Given the description of an element on the screen output the (x, y) to click on. 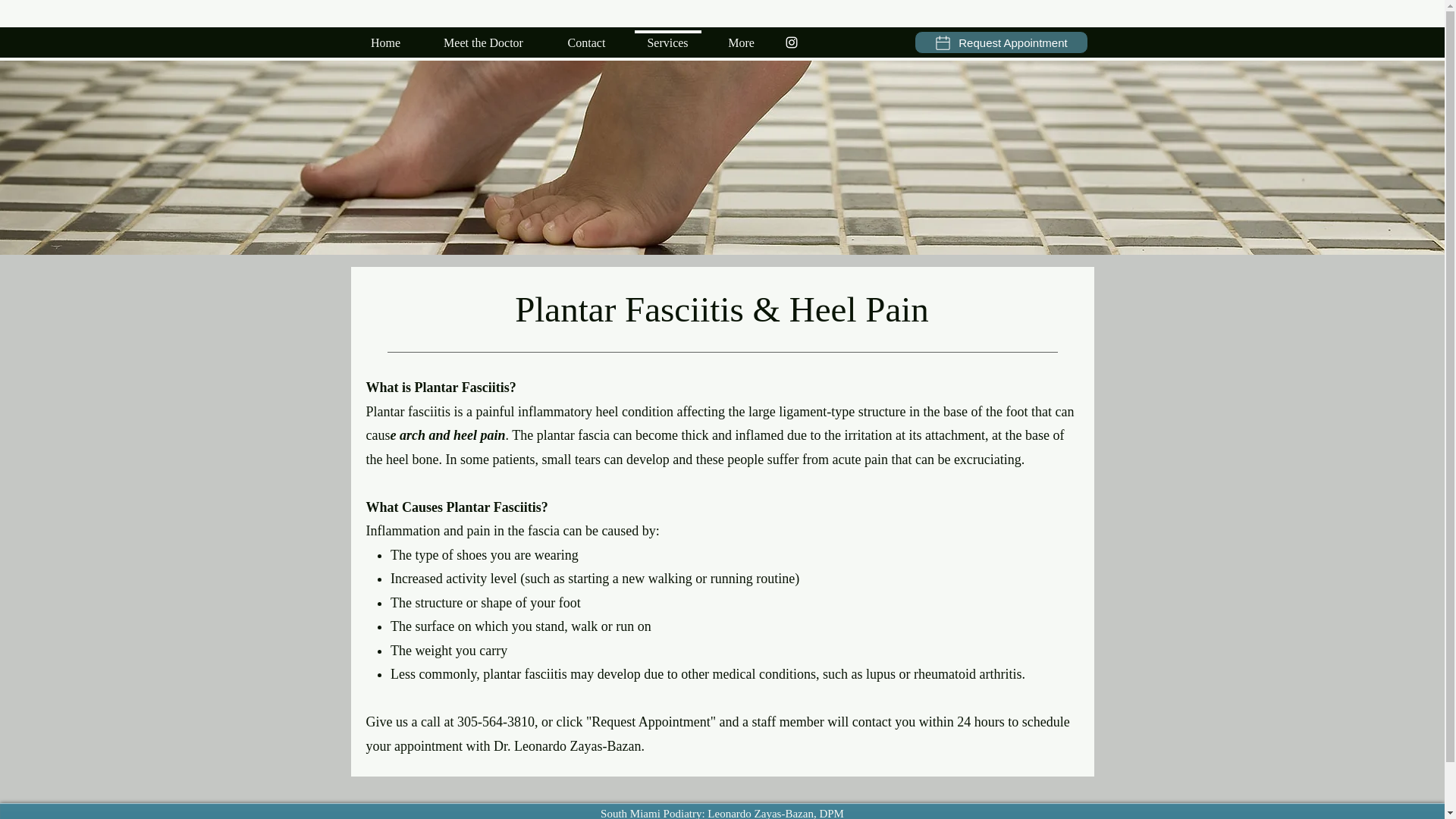
Meet the Doctor (483, 35)
Request Appointment (1000, 42)
lupus (880, 673)
rheumatoid arthritis (968, 673)
Home (385, 35)
Contact (586, 35)
Services (666, 35)
